Given the description of an element on the screen output the (x, y) to click on. 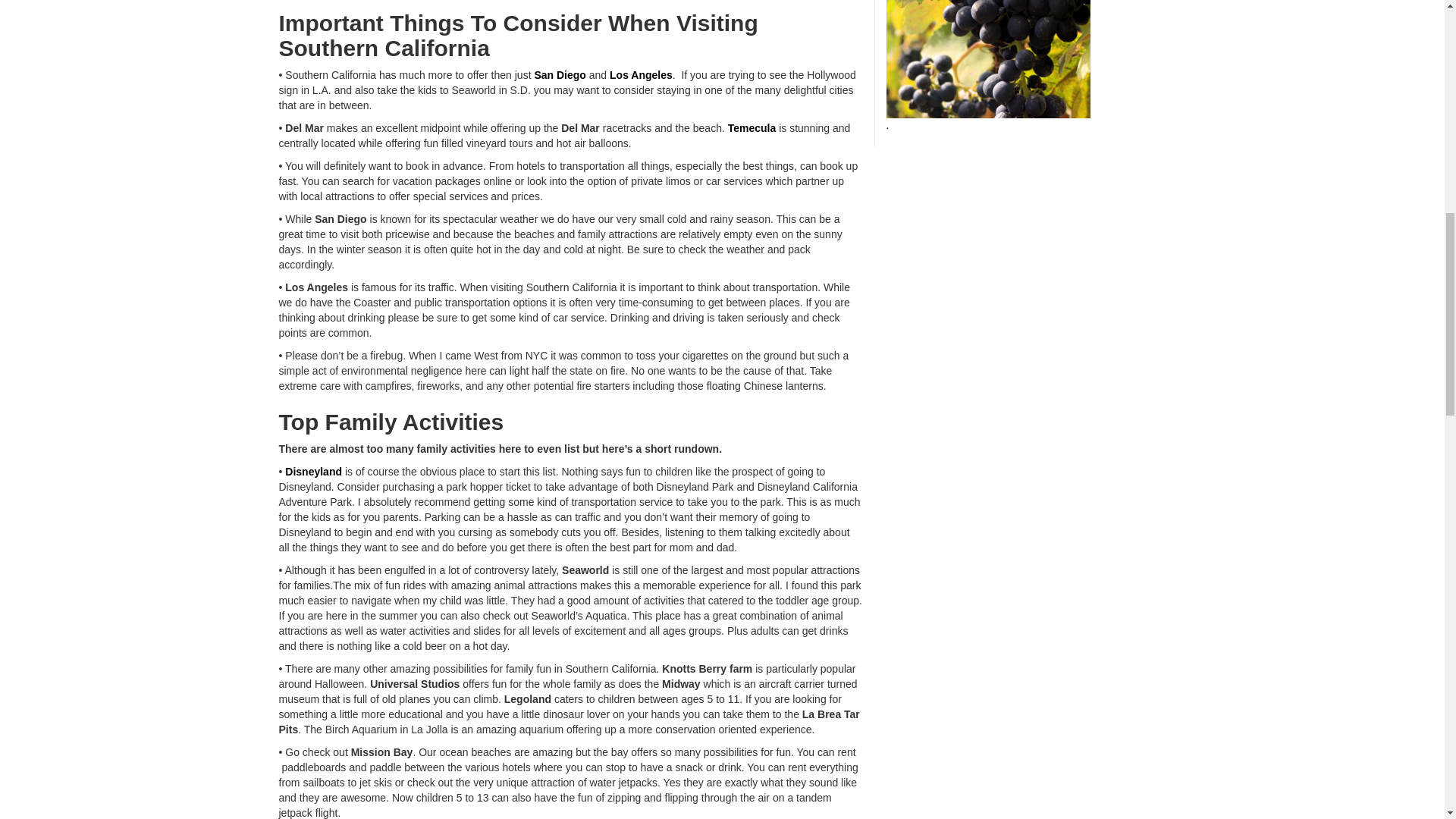
San Diego (559, 74)
Los Angeles (641, 74)
Disneyland (313, 471)
Temecula (752, 128)
